Given the description of an element on the screen output the (x, y) to click on. 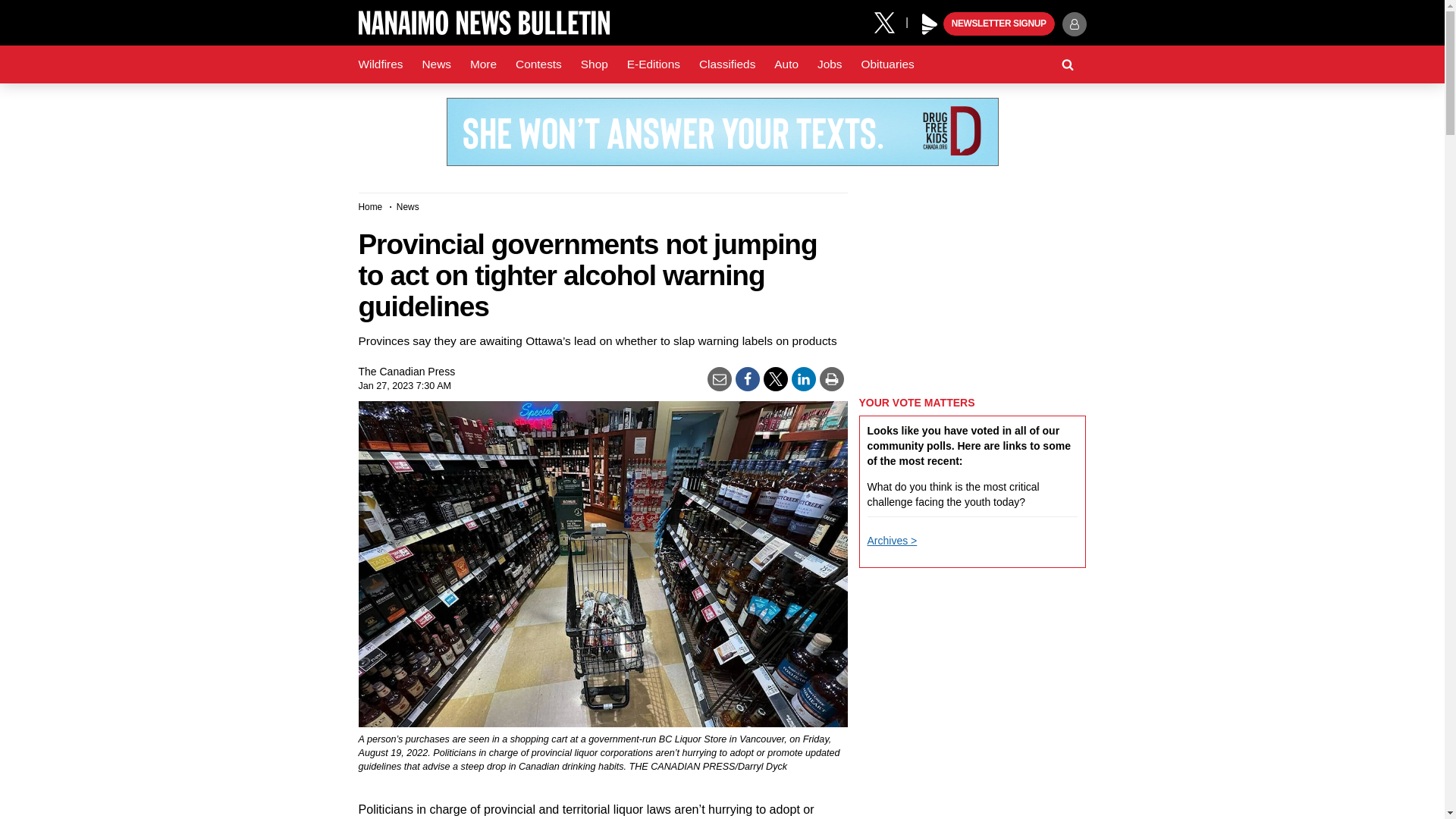
News (435, 64)
X (889, 21)
NEWSLETTER SIGNUP (998, 24)
Wildfires (380, 64)
Black Press Media (929, 24)
3rd party ad content (721, 131)
Play (929, 24)
